Given the description of an element on the screen output the (x, y) to click on. 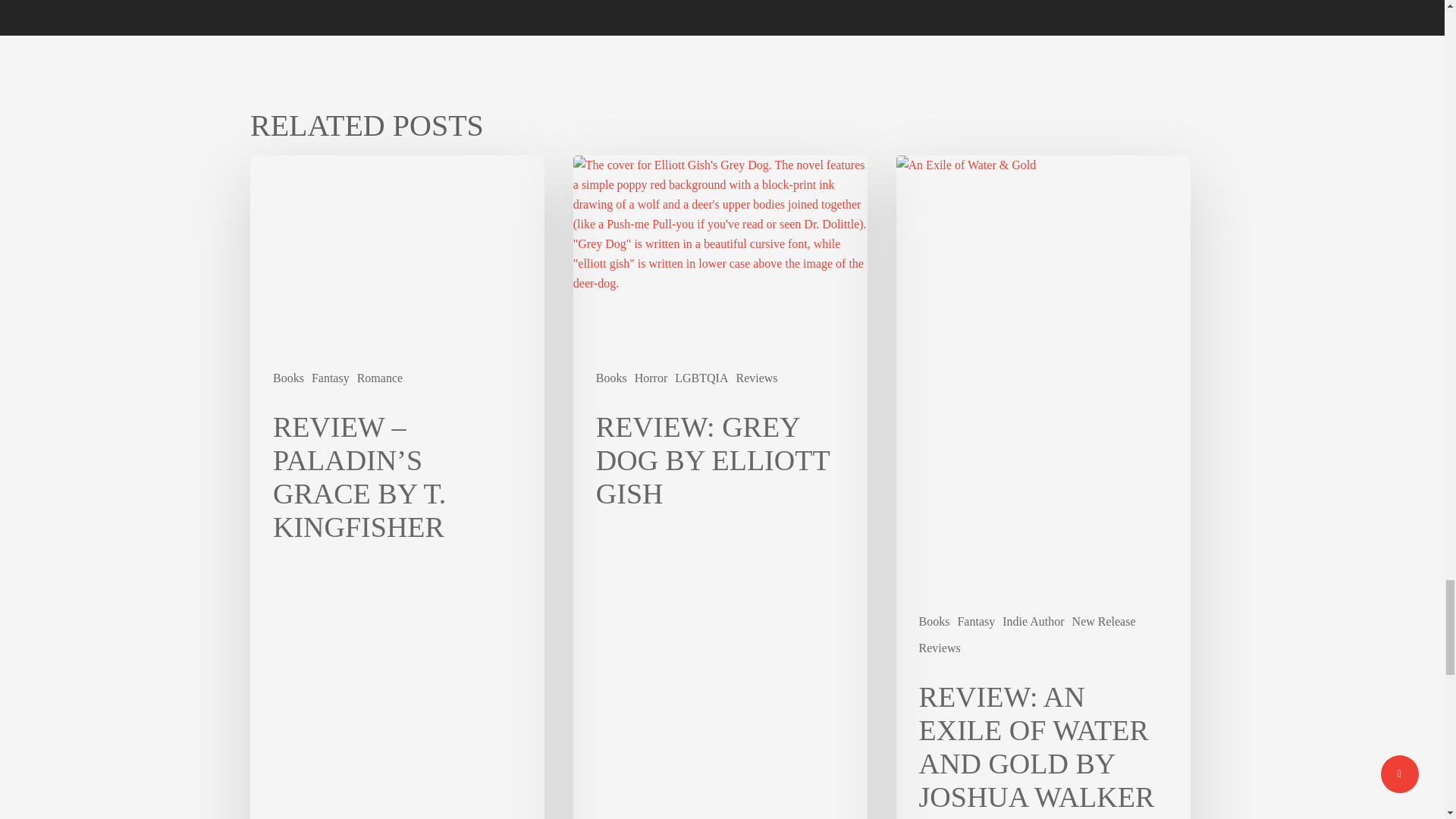
Reviews (756, 378)
Fantasy (330, 378)
Romance (379, 378)
Horror (651, 378)
Books (288, 378)
Books (611, 378)
LGBTQIA (701, 378)
